Given the description of an element on the screen output the (x, y) to click on. 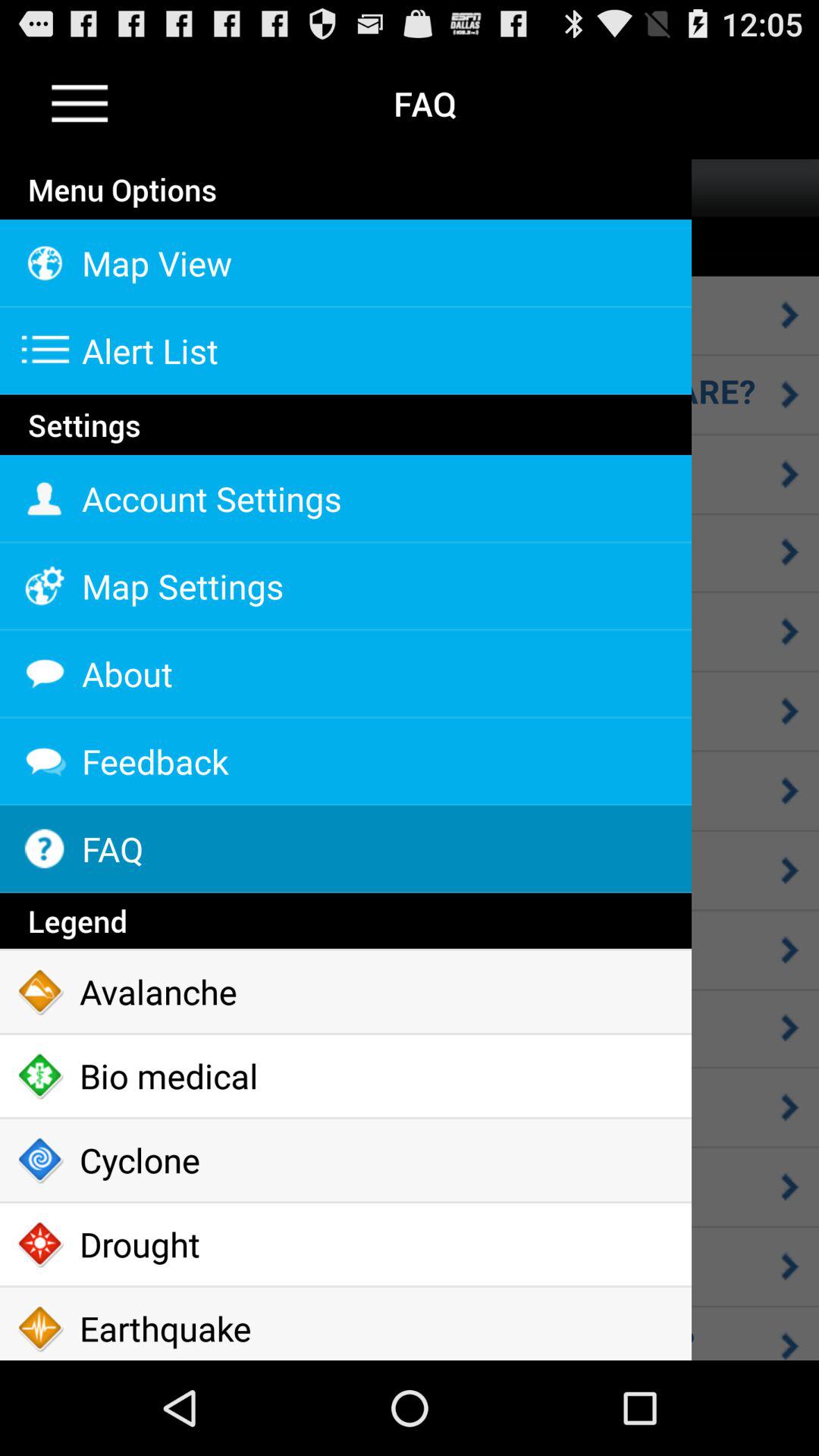
tap the icon to the left of the faq item (79, 103)
